Given the description of an element on the screen output the (x, y) to click on. 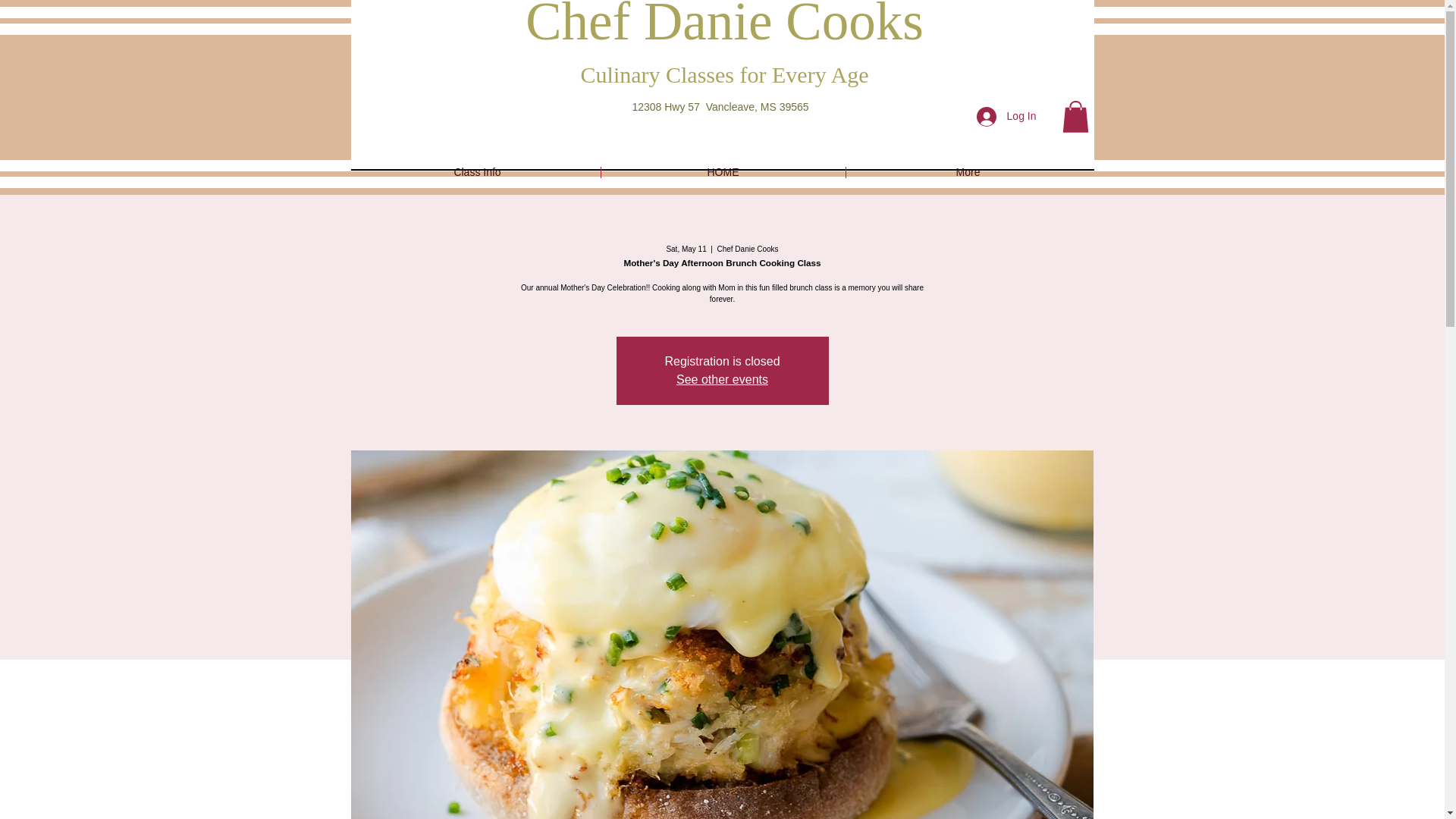
HOME (721, 172)
Log In (1006, 115)
See other events (722, 379)
Class Info (477, 172)
Embedded Content (440, 119)
